Given the description of an element on the screen output the (x, y) to click on. 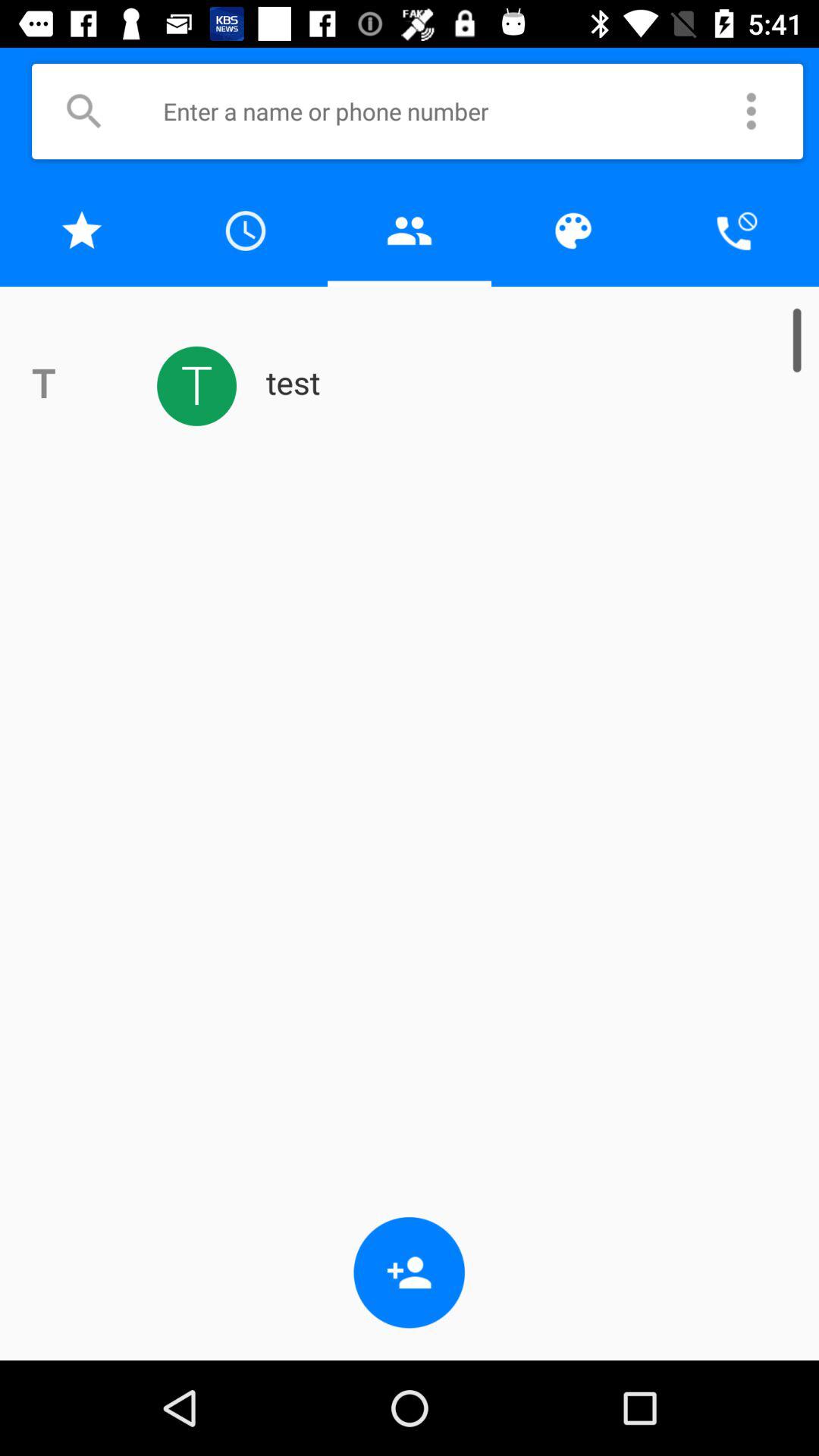
search (83, 111)
